Given the description of an element on the screen output the (x, y) to click on. 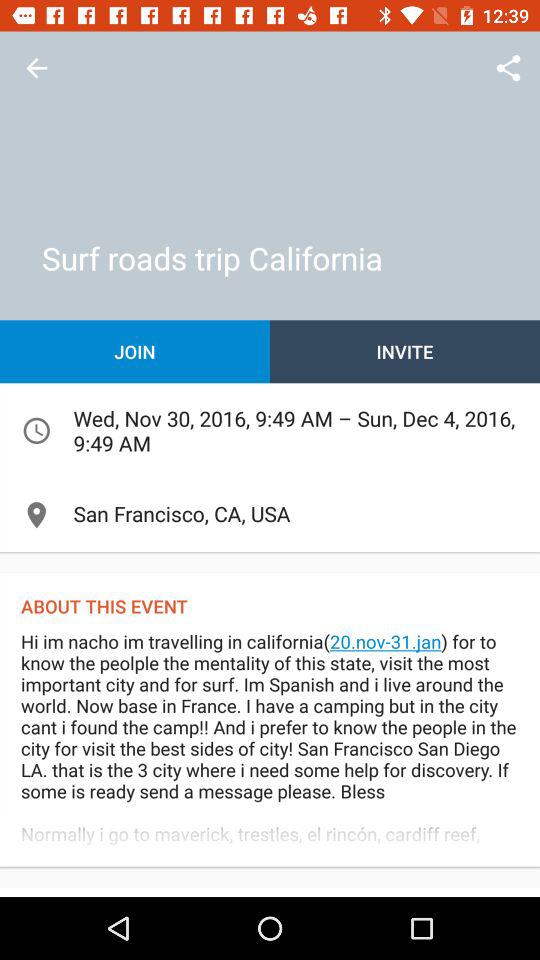
launch item below the wed nov 30 icon (270, 514)
